Given the description of an element on the screen output the (x, y) to click on. 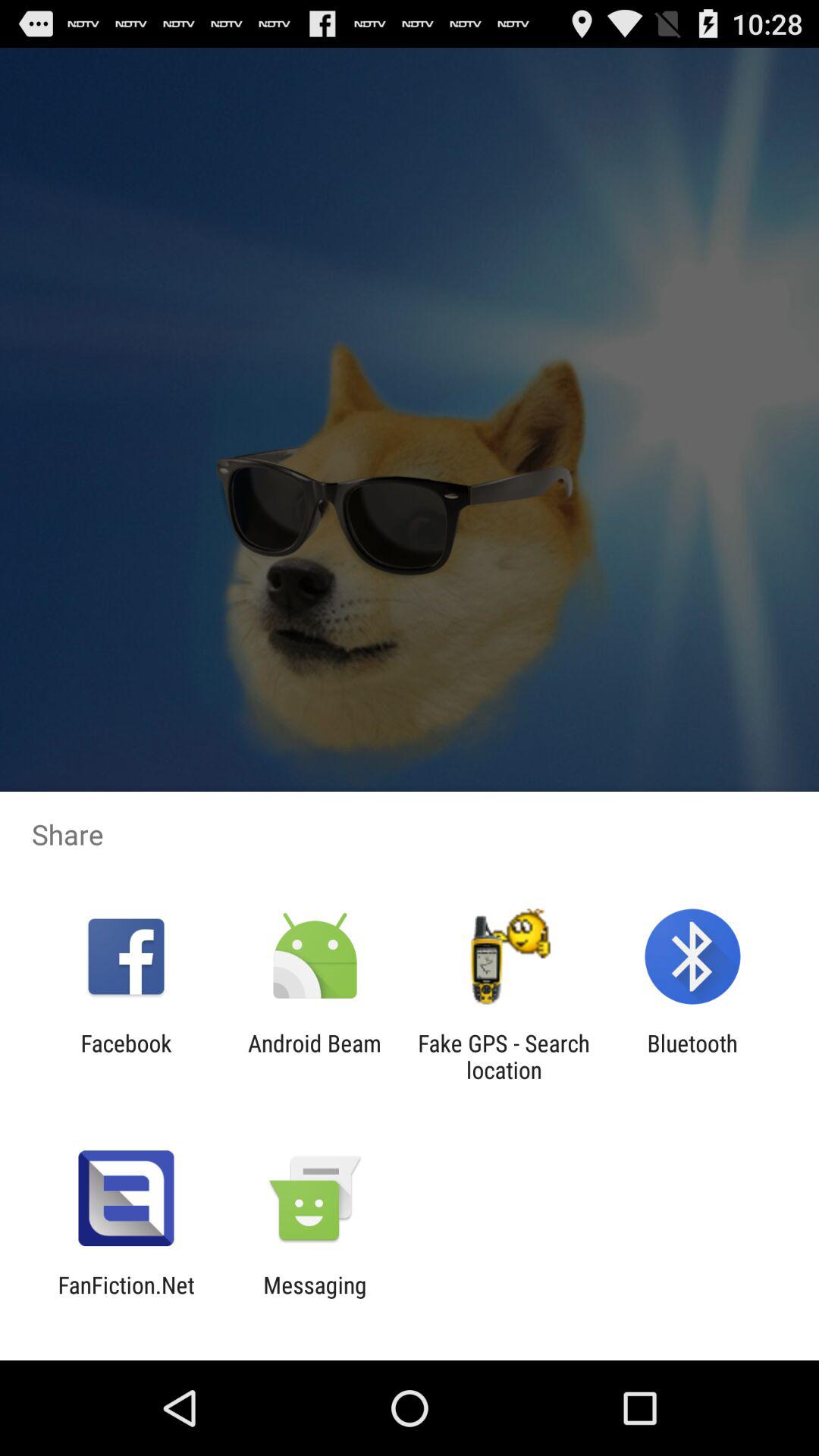
turn on the app next to fake gps search app (692, 1056)
